Given the description of an element on the screen output the (x, y) to click on. 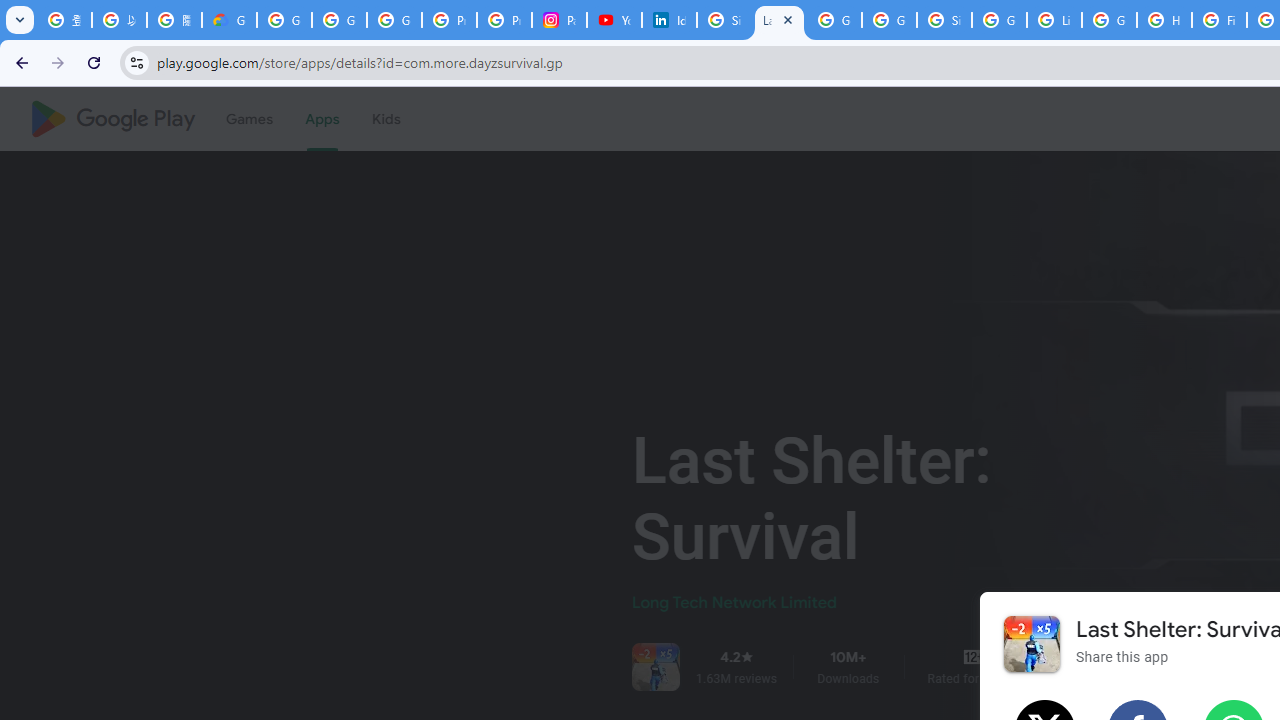
Privacy Help Center - Policies Help (504, 20)
Sign in - Google Accounts (724, 20)
